Given the description of an element on the screen output the (x, y) to click on. 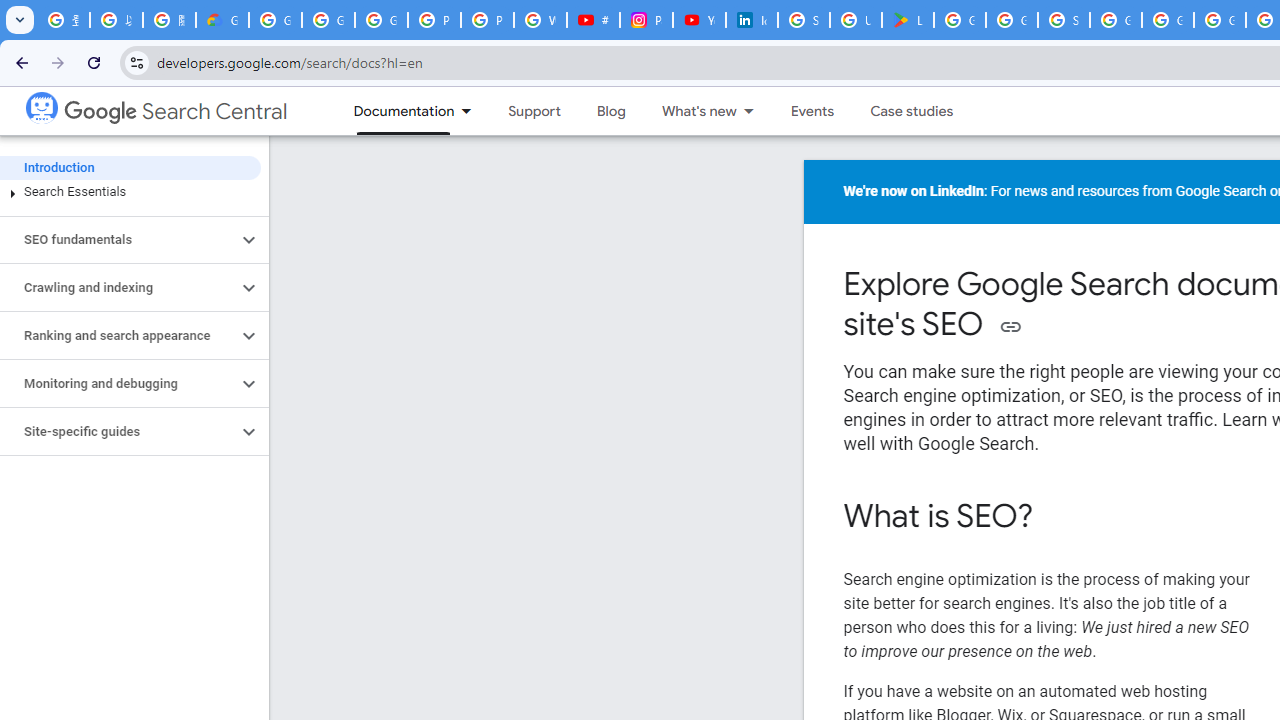
Google Search Central (176, 111)
Google Search Central (41, 106)
Dropdown menu for What's new (754, 111)
